Given the description of an element on the screen output the (x, y) to click on. 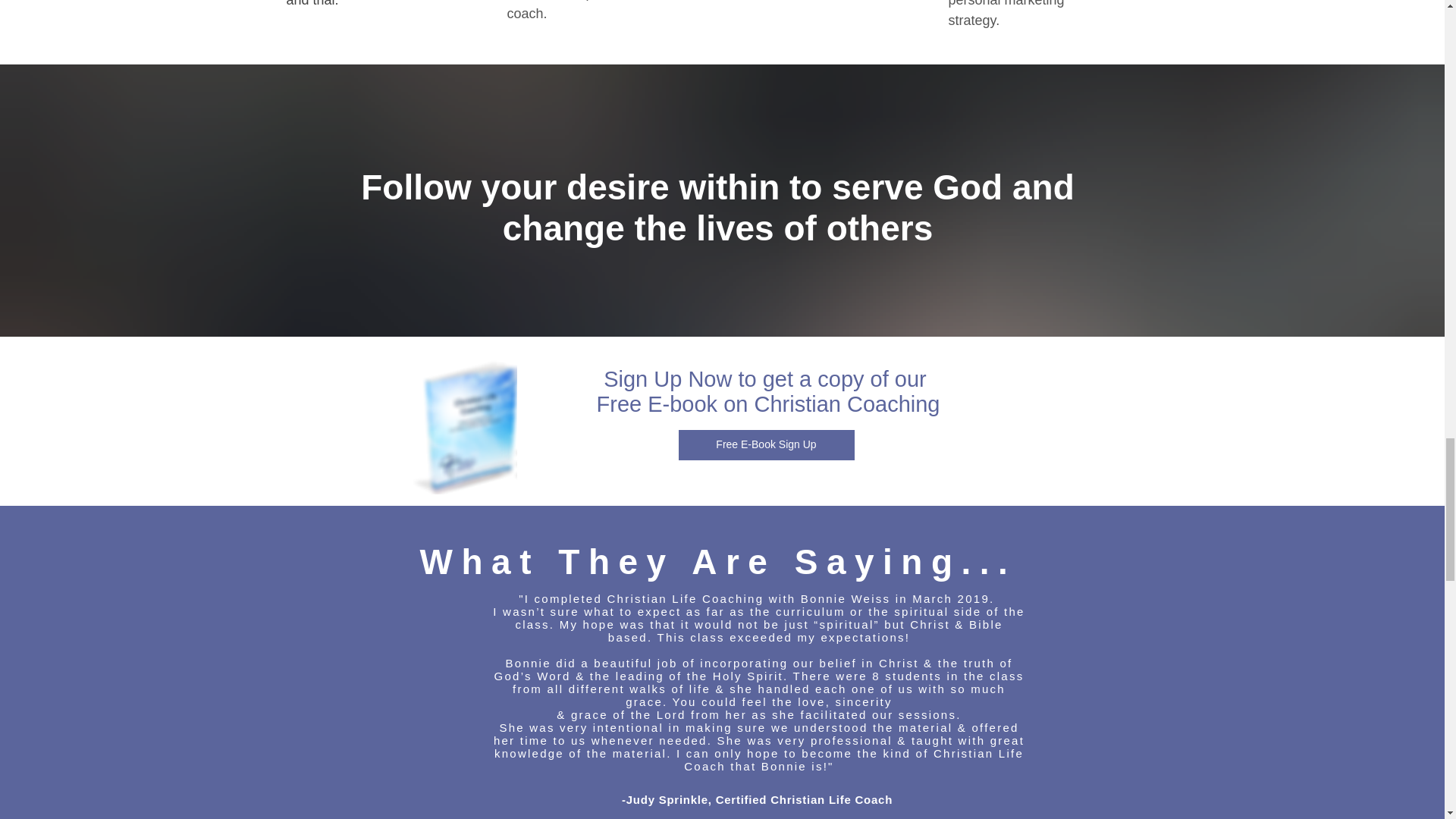
Free E-Book Sign Up (765, 444)
